Given the description of an element on the screen output the (x, y) to click on. 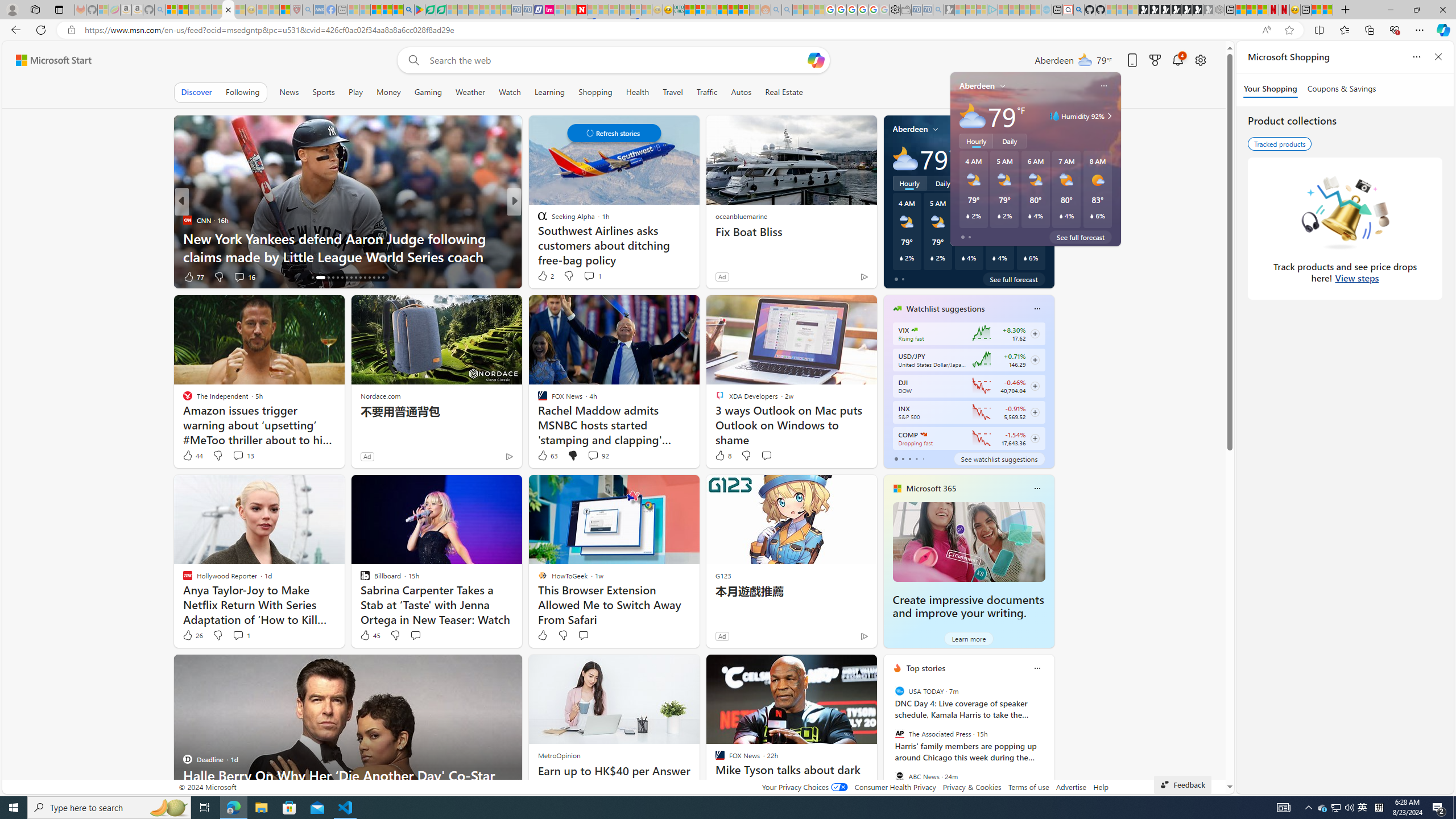
Inverse (537, 219)
136 Like (545, 276)
CBOE Market Volatility Index (914, 329)
Mostly cloudy (904, 158)
16 Like (543, 276)
My location (936, 128)
Scripps News (537, 219)
AutomationID: tab-23 (350, 277)
